Given the description of an element on the screen output the (x, y) to click on. 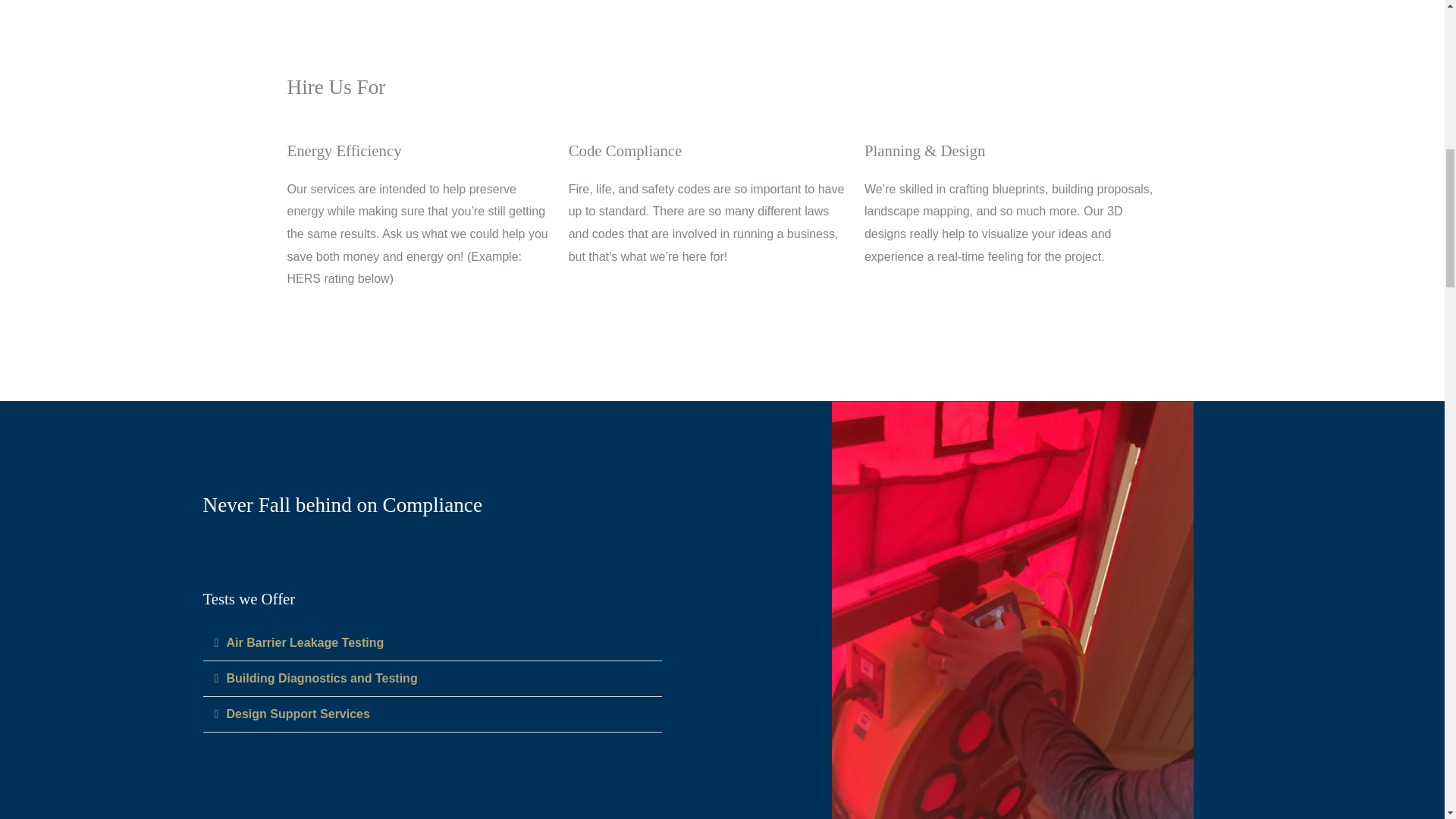
Building Diagnostics and Testing (320, 677)
Design Support Services (297, 713)
Air Barrier Leakage Testing (304, 642)
